Given the description of an element on the screen output the (x, y) to click on. 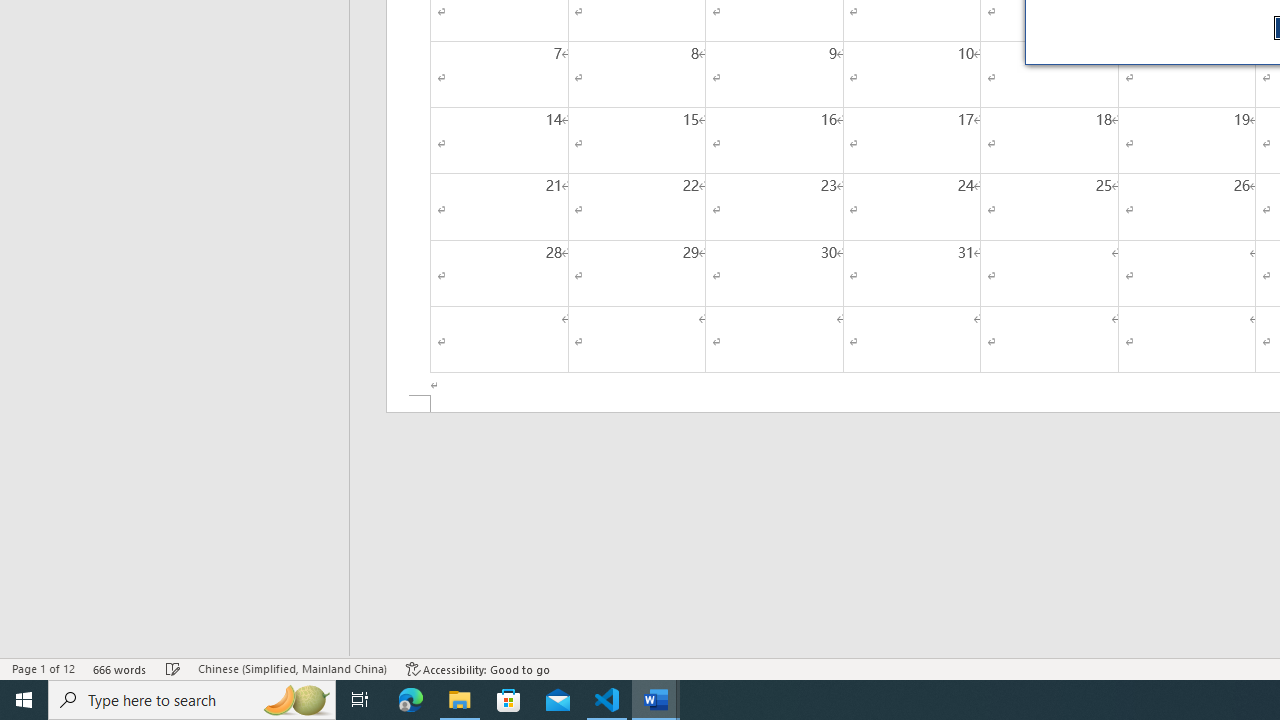
Microsoft Edge (411, 699)
Word - 2 running windows (656, 699)
Search highlights icon opens search home window (295, 699)
Spelling and Grammar Check Checking (173, 668)
Start (24, 699)
Task View (359, 699)
File Explorer - 1 running window (460, 699)
Microsoft Store (509, 699)
Accessibility Checker Accessibility: Good to go (478, 668)
Word Count 666 words (119, 668)
Language Chinese (Simplified, Mainland China) (292, 668)
Visual Studio Code - 1 running window (607, 699)
Page Number Page 1 of 12 (43, 668)
